Given the description of an element on the screen output the (x, y) to click on. 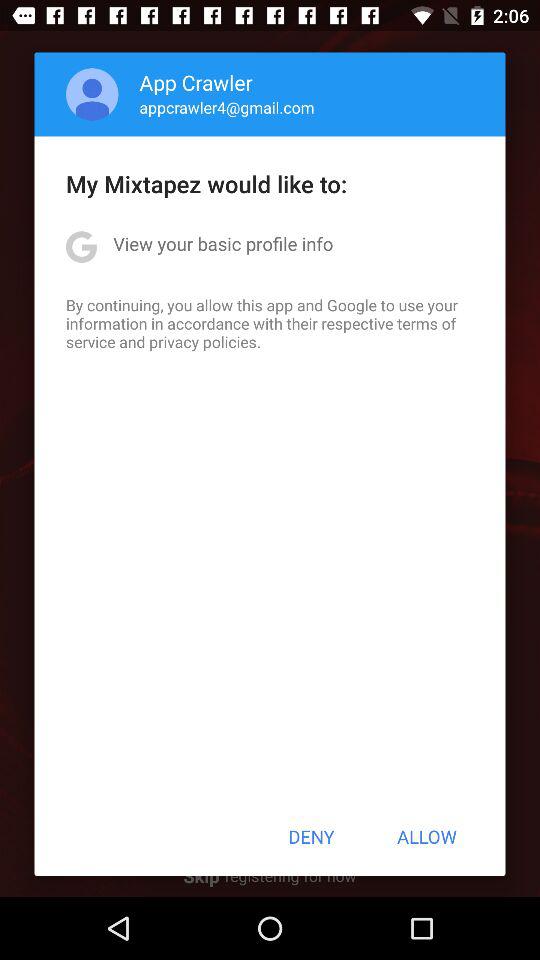
jump to appcrawler4@gmail.com item (226, 107)
